Given the description of an element on the screen output the (x, y) to click on. 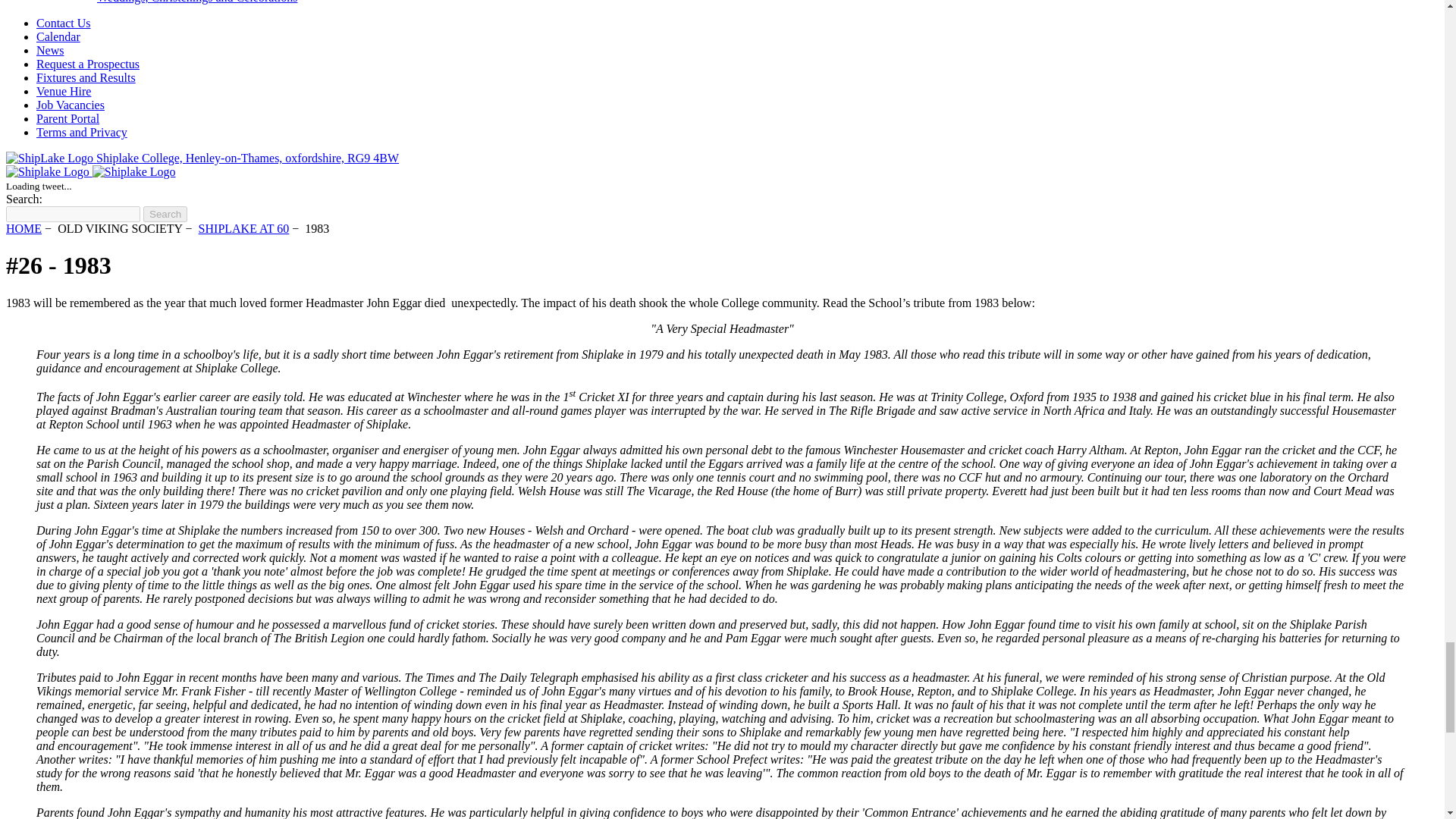
Search (164, 213)
